Given the description of an element on the screen output the (x, y) to click on. 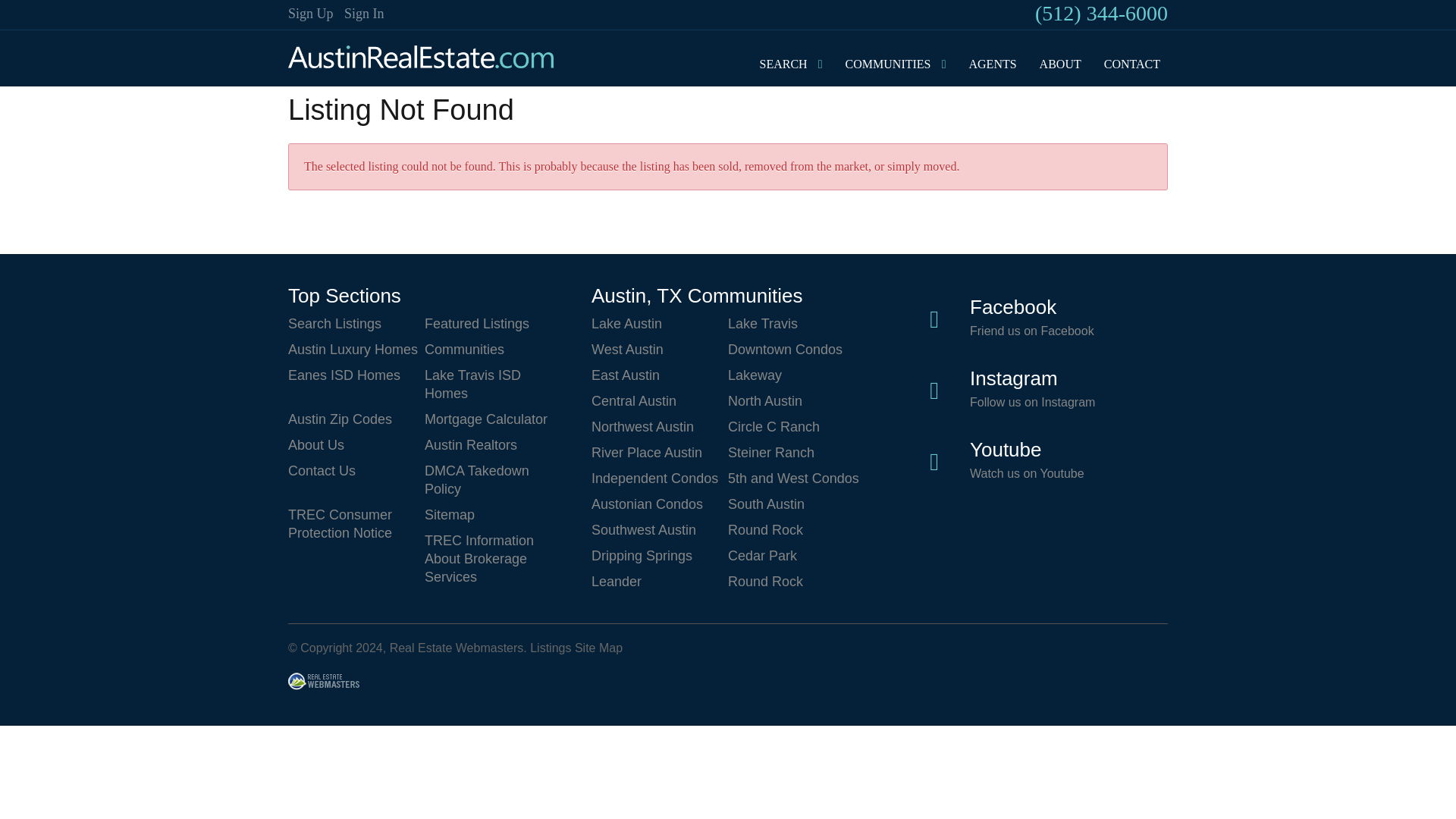
Communities (492, 349)
CONTACT (1131, 64)
Austin Luxury Homes (356, 349)
SEARCH (782, 64)
COMMUNITIES (888, 64)
ABOUT (1060, 64)
Search Listings (356, 323)
Sign Up (310, 13)
Real Estate Web Design By Real Estate Webmasters (323, 683)
AGENTS (992, 64)
Sign In (363, 13)
Featured Listings (492, 323)
